Given the description of an element on the screen output the (x, y) to click on. 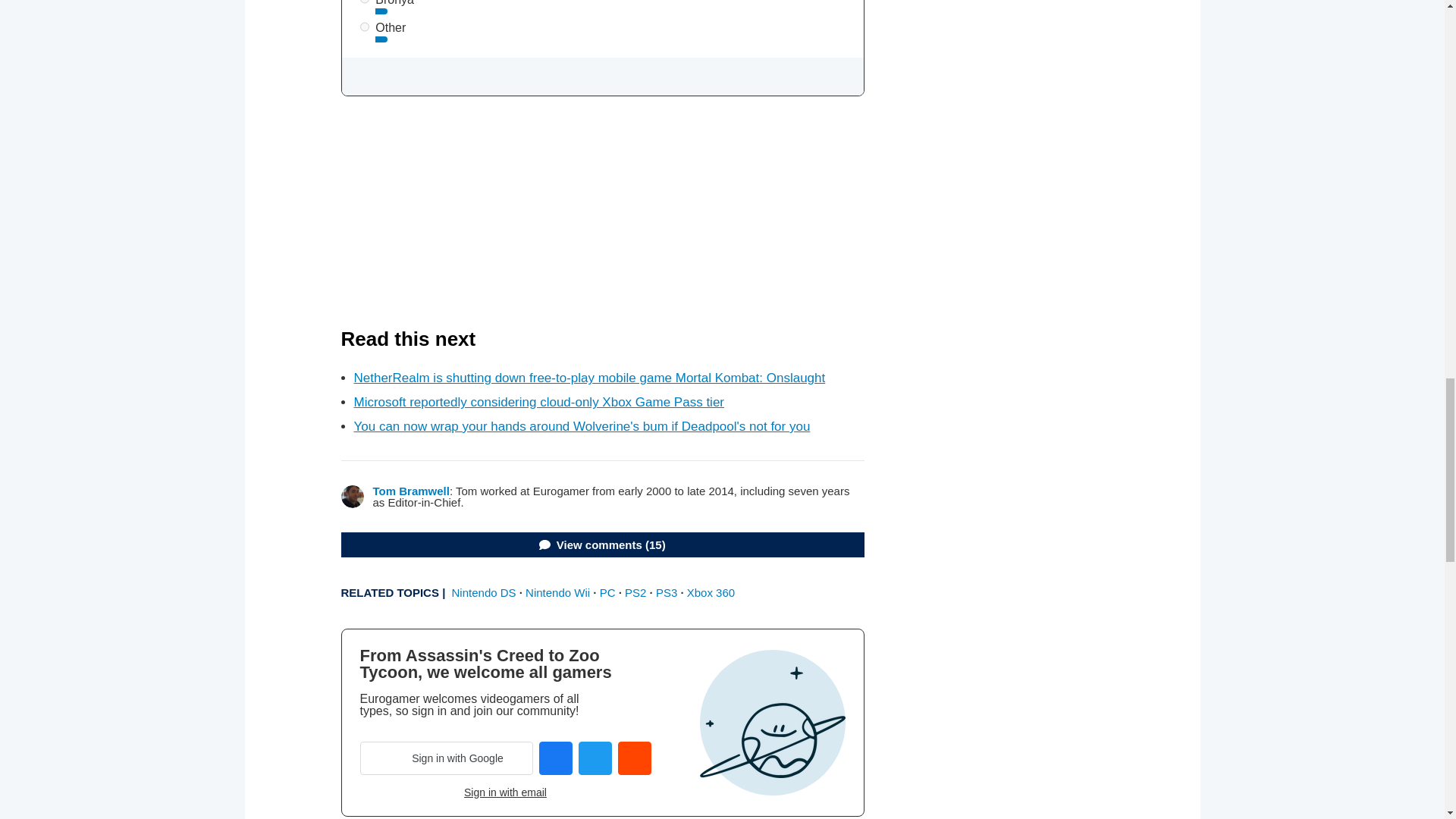
Sign in with Google (445, 758)
Nintendo DS (483, 592)
on (364, 26)
Nintendo Wii (557, 592)
PS2 (635, 592)
Tom Bramwell (410, 490)
PS3 (666, 592)
on (364, 2)
PC (607, 592)
